Given the description of an element on the screen output the (x, y) to click on. 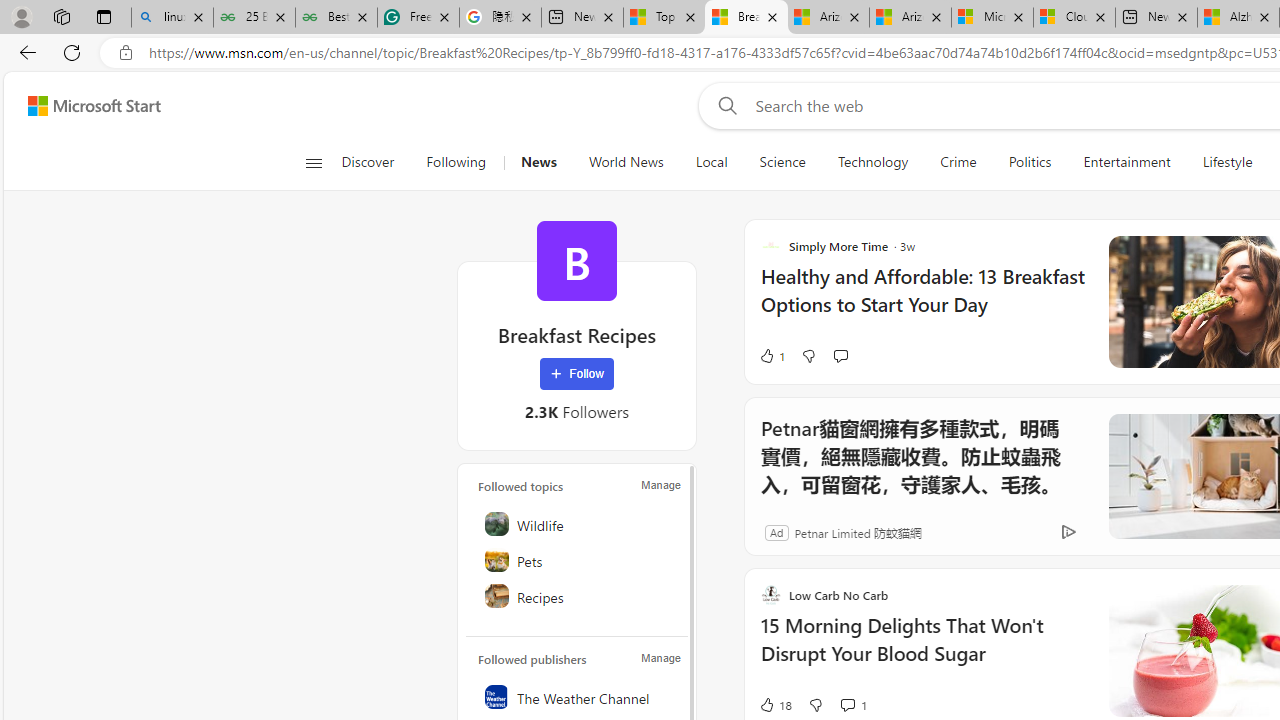
Microsoft Services Agreement (992, 17)
Local (710, 162)
World News (625, 162)
25 Basic Linux Commands For Beginners - GeeksforGeeks (254, 17)
Open navigation menu (313, 162)
Crime (957, 162)
Cloud Computing Services | Microsoft Azure (1074, 17)
15 Morning Delights That Won't Disrupt Your Blood Sugar (922, 650)
linux basic - Search (171, 17)
